Given the description of an element on the screen output the (x, y) to click on. 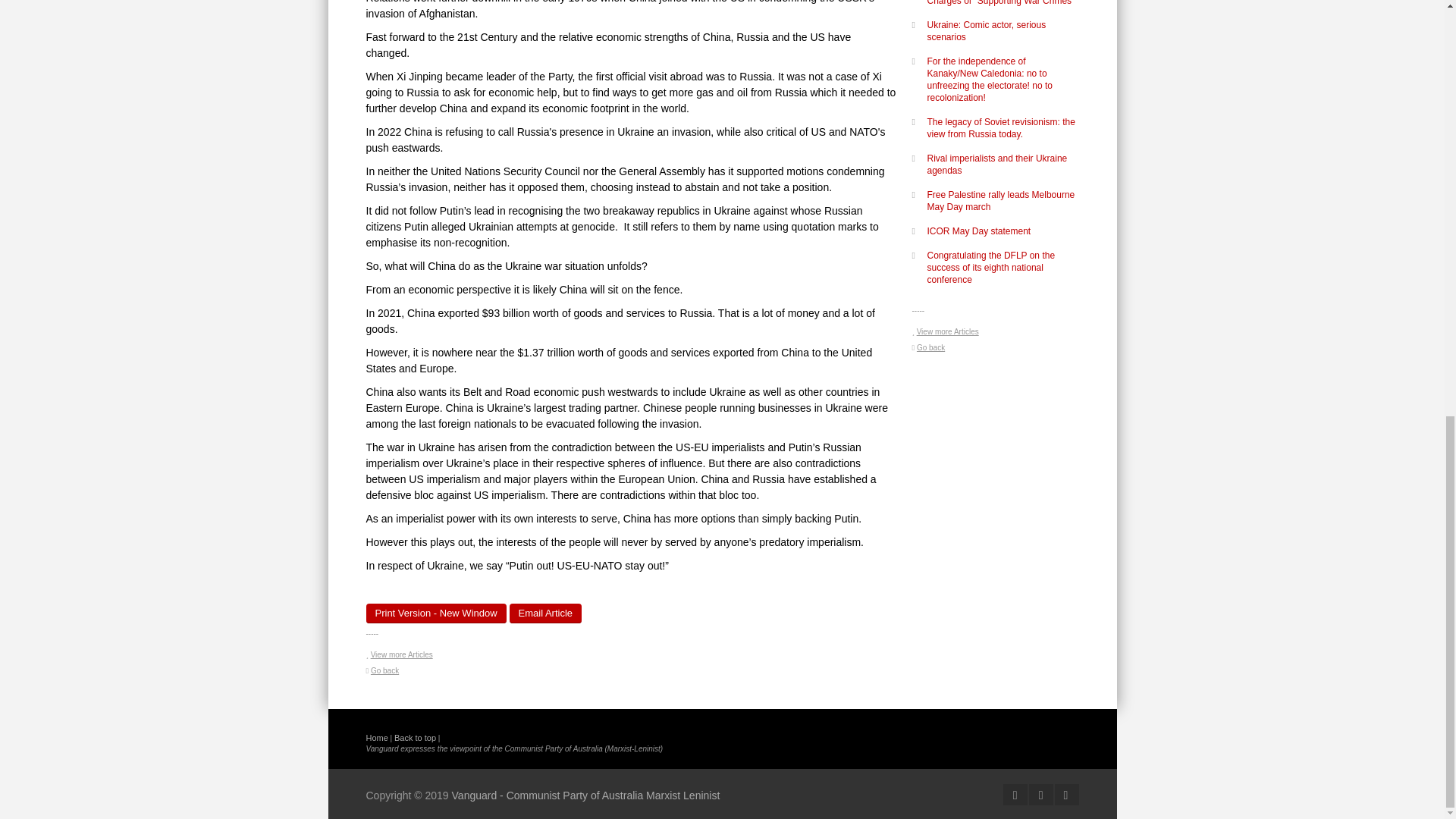
Share by Email (545, 613)
